Given the description of an element on the screen output the (x, y) to click on. 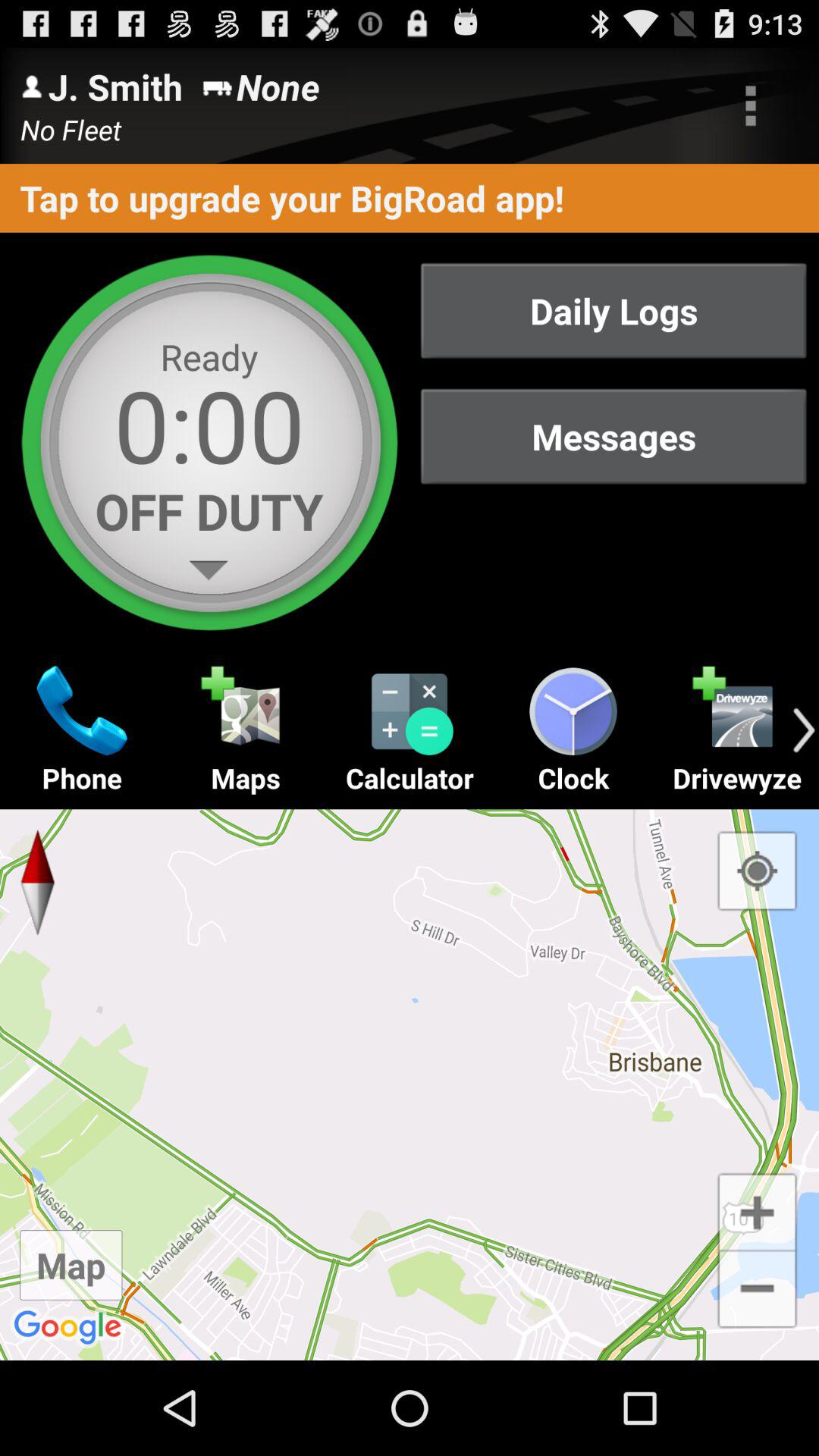
flip until the tap to upgrade icon (409, 197)
